Given the description of an element on the screen output the (x, y) to click on. 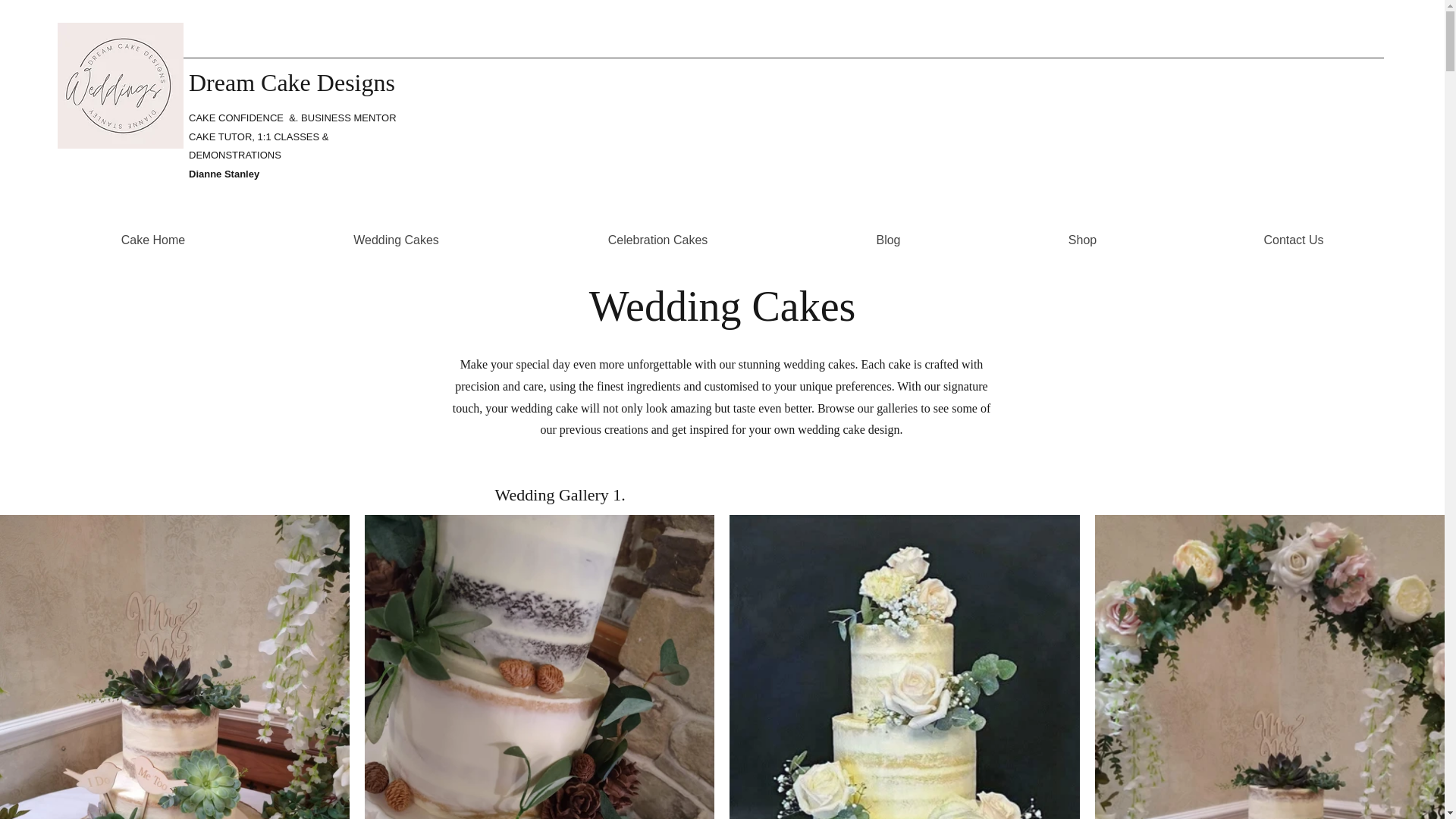
Dream Cake Designs (291, 82)
Contact Us (1293, 239)
Shop (1082, 239)
Celebration Cakes (658, 239)
Blog (888, 239)
Cake Home (152, 239)
